Given the description of an element on the screen output the (x, y) to click on. 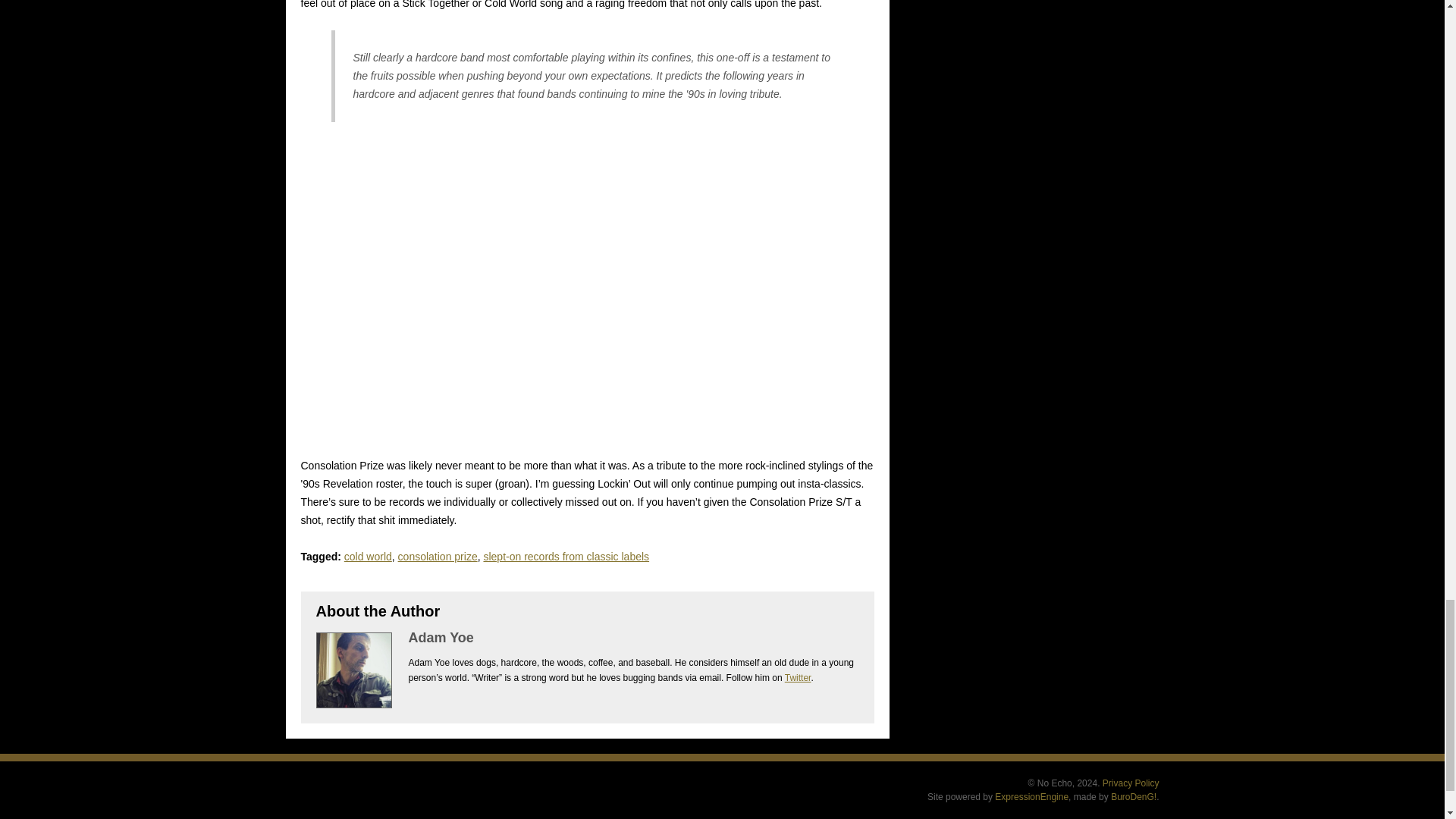
Twitter (797, 677)
Privacy Policy (1130, 783)
BuroDenG! (1133, 796)
consolation prize (437, 556)
ExpressionEngine (1031, 796)
slept-on records from classic labels (566, 556)
cold world (367, 556)
